Given the description of an element on the screen output the (x, y) to click on. 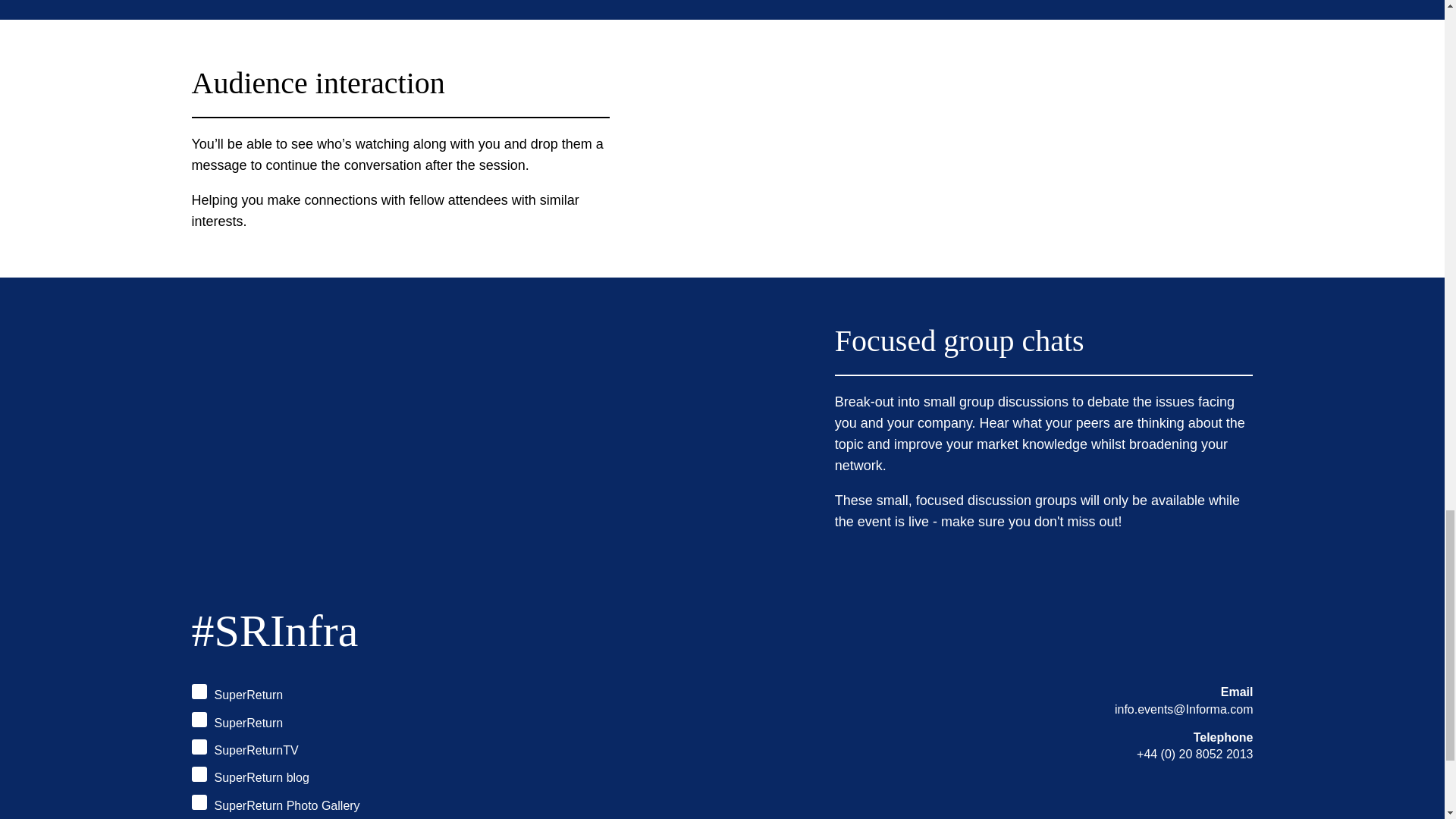
SuperReturn (236, 693)
SuperReturn blog (249, 776)
SuperReturn Photo Gallery (274, 804)
SuperReturn (236, 721)
SuperReturnTV (244, 749)
